Given the description of an element on the screen output the (x, y) to click on. 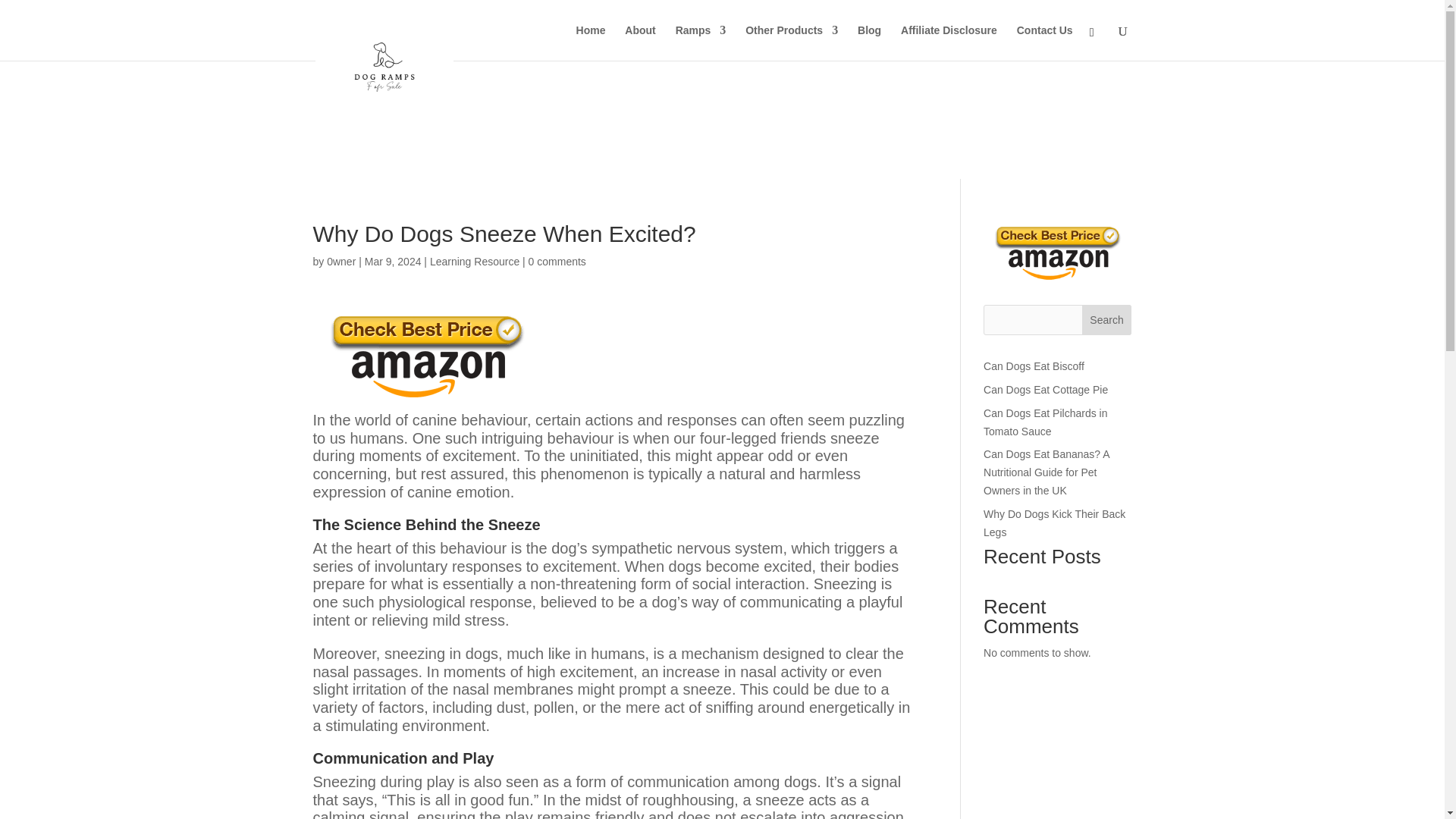
0wner (340, 261)
Affiliate Disclosure (949, 42)
Learning Resource (474, 261)
Other Products (791, 42)
Posts by 0wner (340, 261)
0 comments (557, 261)
Contact Us (1044, 42)
Ramps (700, 42)
